Given the description of an element on the screen output the (x, y) to click on. 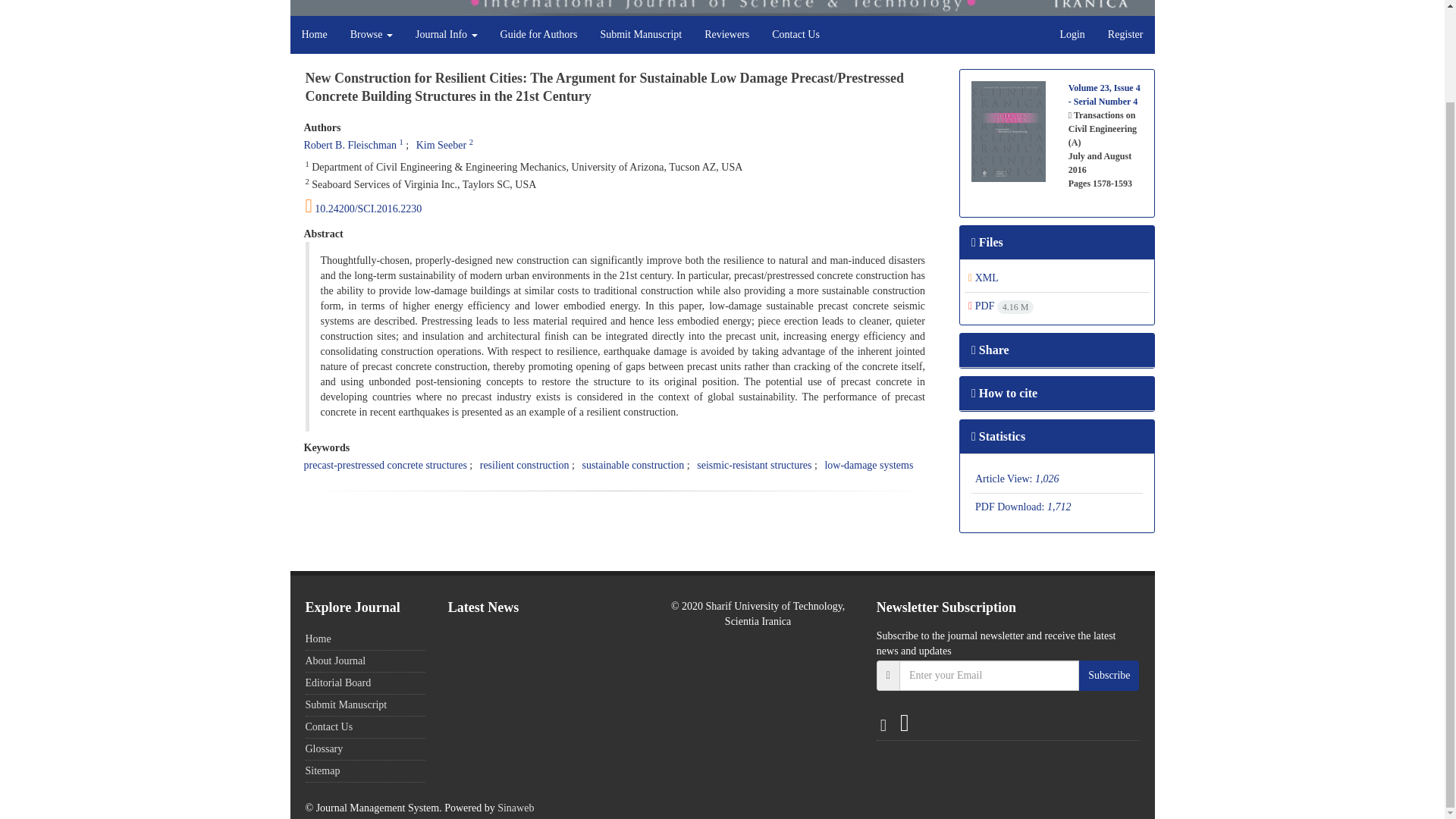
Guide for Authors (539, 34)
PDF 4.16 M (1000, 306)
low-damage systems (868, 464)
Submit Manuscript (640, 34)
resilient construction (524, 464)
precast-prestressed concrete structures (383, 464)
Register (1125, 34)
sustainable construction (632, 464)
Reviewers (726, 34)
1 (400, 142)
Home (313, 34)
XML (983, 277)
Kim Seeber (440, 144)
Robert B. Fleischman (349, 144)
Volume 23, Issue 4 - Serial Number 4 (1104, 94)
